Given the description of an element on the screen output the (x, y) to click on. 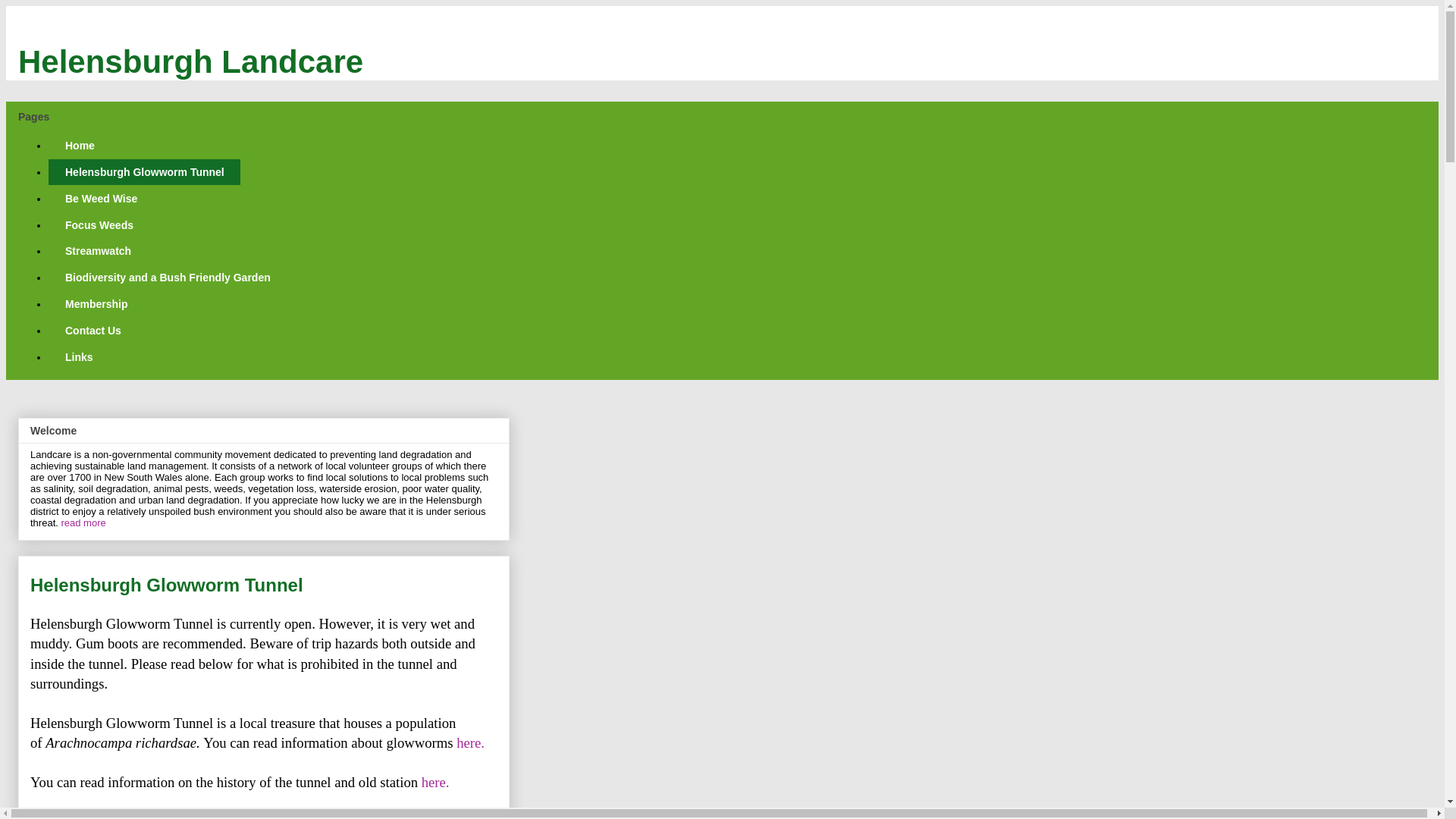
Membership Element type: text (95, 304)
Contact Us Element type: text (92, 329)
Streamwatch Element type: text (97, 251)
here. Element type: text (470, 742)
Biodiversity and a Bush Friendly Garden Element type: text (167, 277)
Helensburgh Landcare Element type: text (190, 61)
read more Element type: text (82, 522)
Focus Weeds Element type: text (98, 224)
Links Element type: text (78, 356)
Be Weed Wise Element type: text (100, 198)
here.  Element type: text (436, 782)
Home Element type: text (79, 145)
Helensburgh Glowworm Tunnel Element type: text (144, 172)
